Given the description of an element on the screen output the (x, y) to click on. 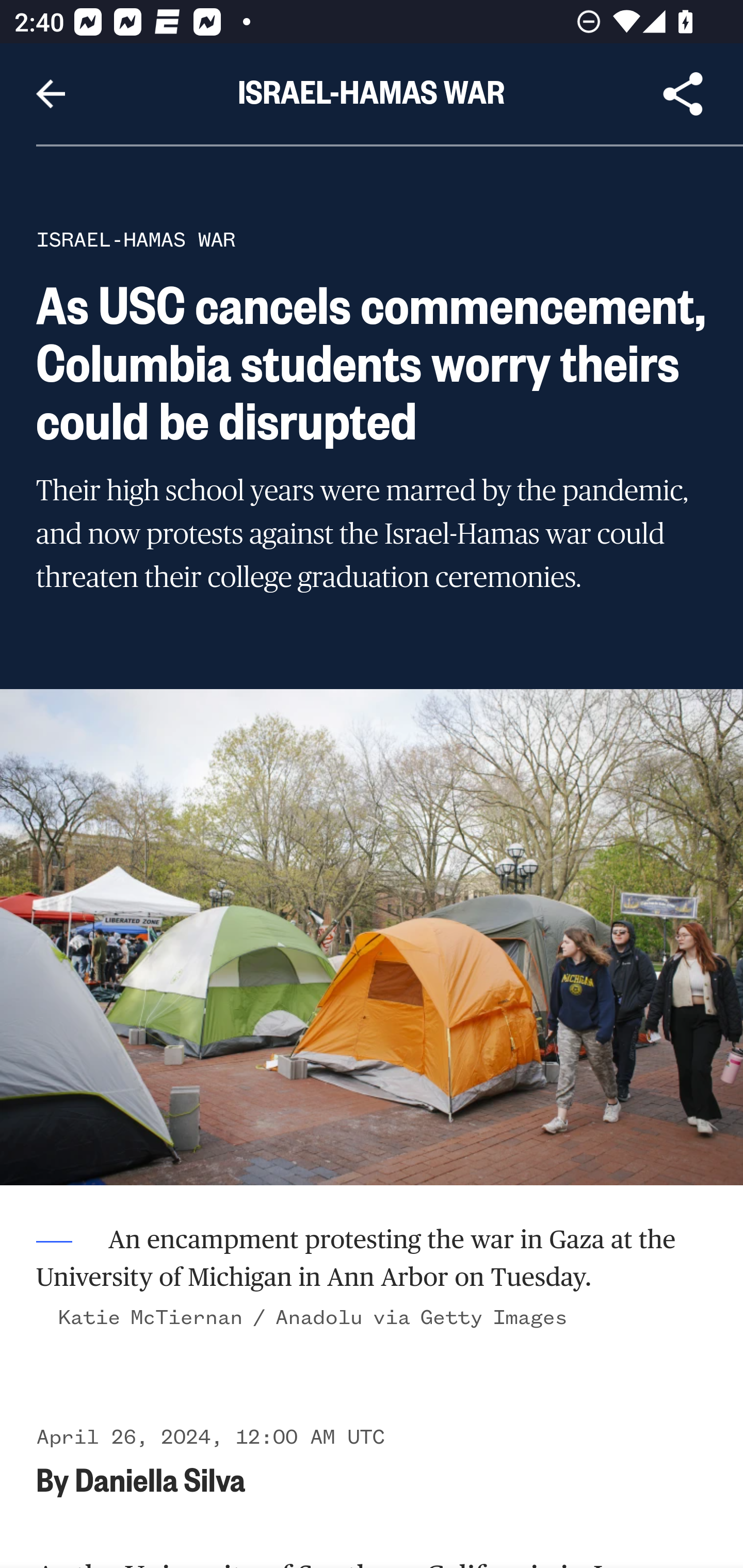
Navigate up (50, 93)
Share Article, button (683, 94)
